Given the description of an element on the screen output the (x, y) to click on. 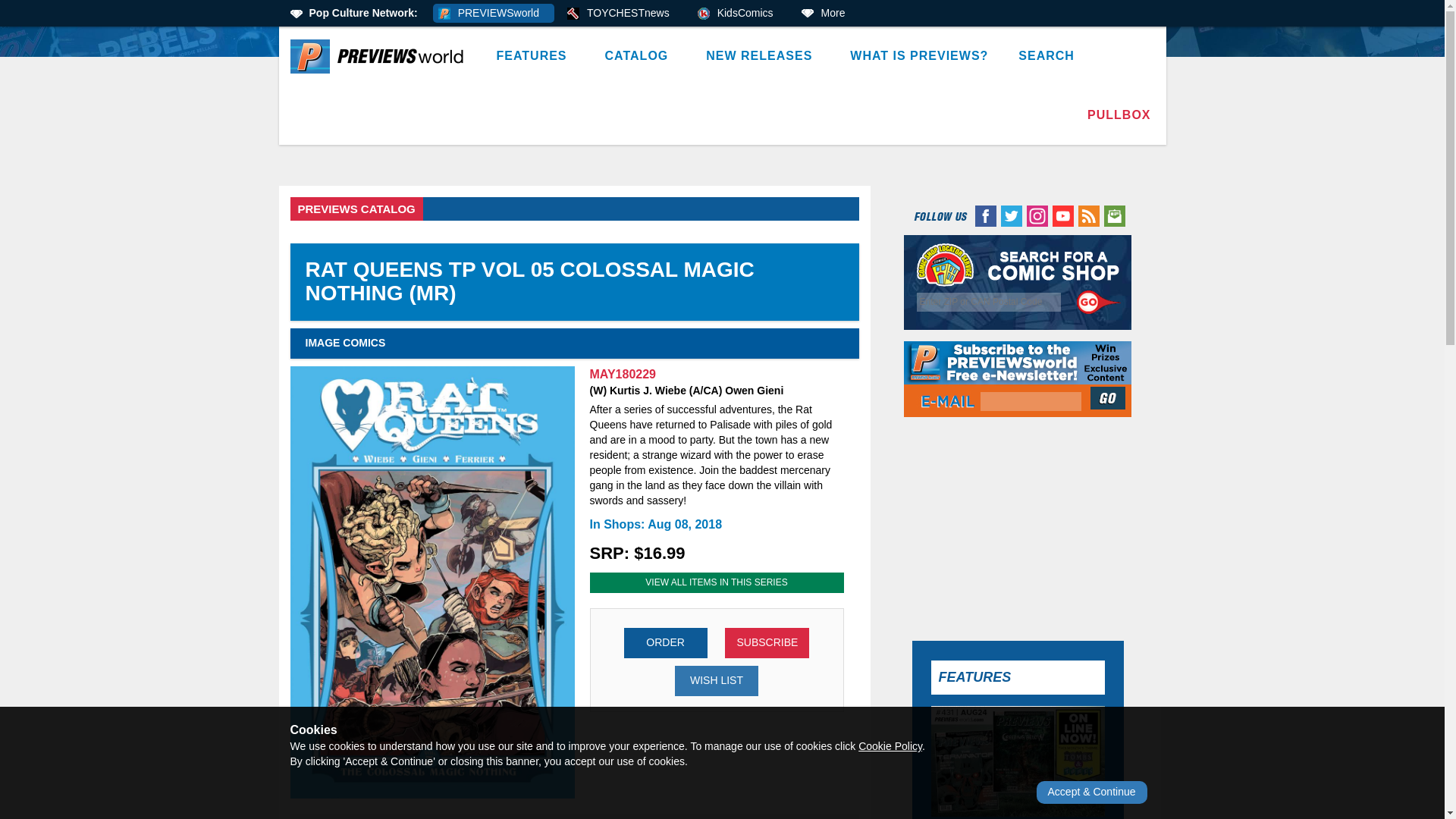
3rd party ad content (722, 136)
CATALOG (640, 55)
TOYCHESTnews (623, 13)
FEATURES (534, 55)
More (828, 13)
KidsComics (741, 13)
PREVIEWSworld (493, 13)
3rd party ad content (1017, 523)
Enter ZIP or CAN Postal Code (989, 302)
Email Address Input for Newsletter Signup (1030, 401)
